Given the description of an element on the screen output the (x, y) to click on. 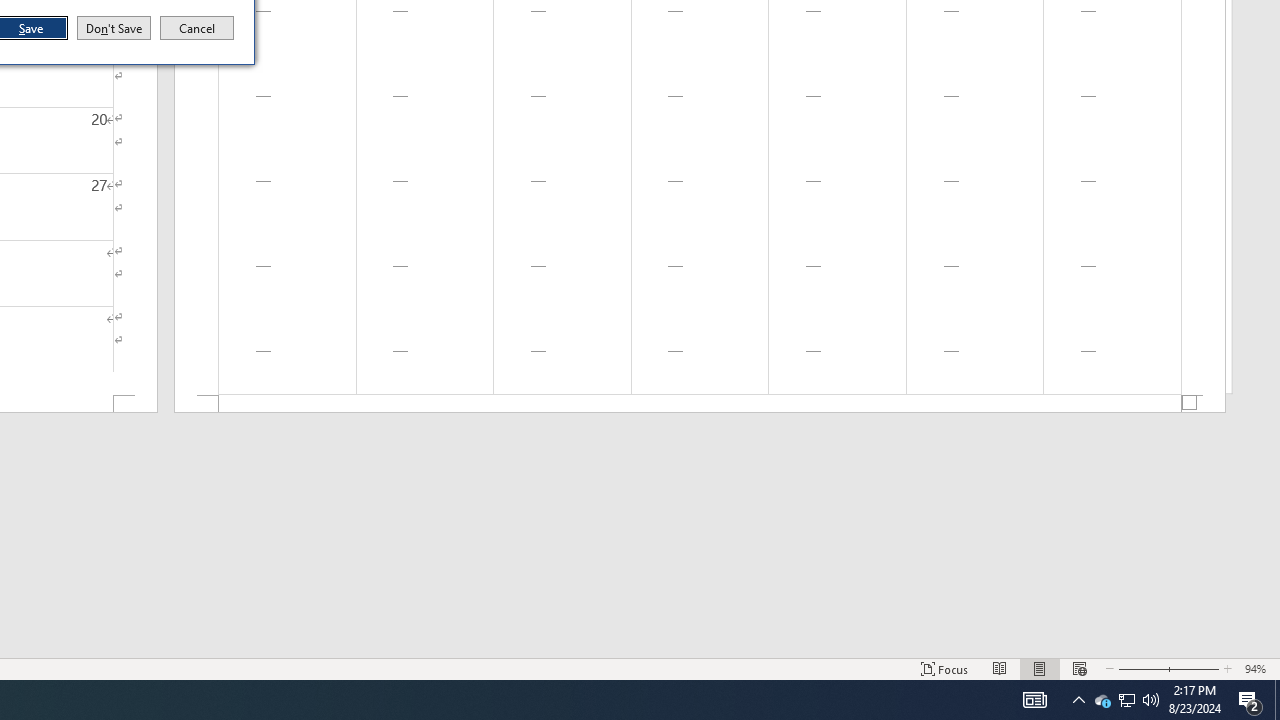
Cancel (197, 27)
Footer -Section 1- (1102, 699)
Notification Chevron (700, 404)
Zoom Out (1078, 699)
